Given the description of an element on the screen output the (x, y) to click on. 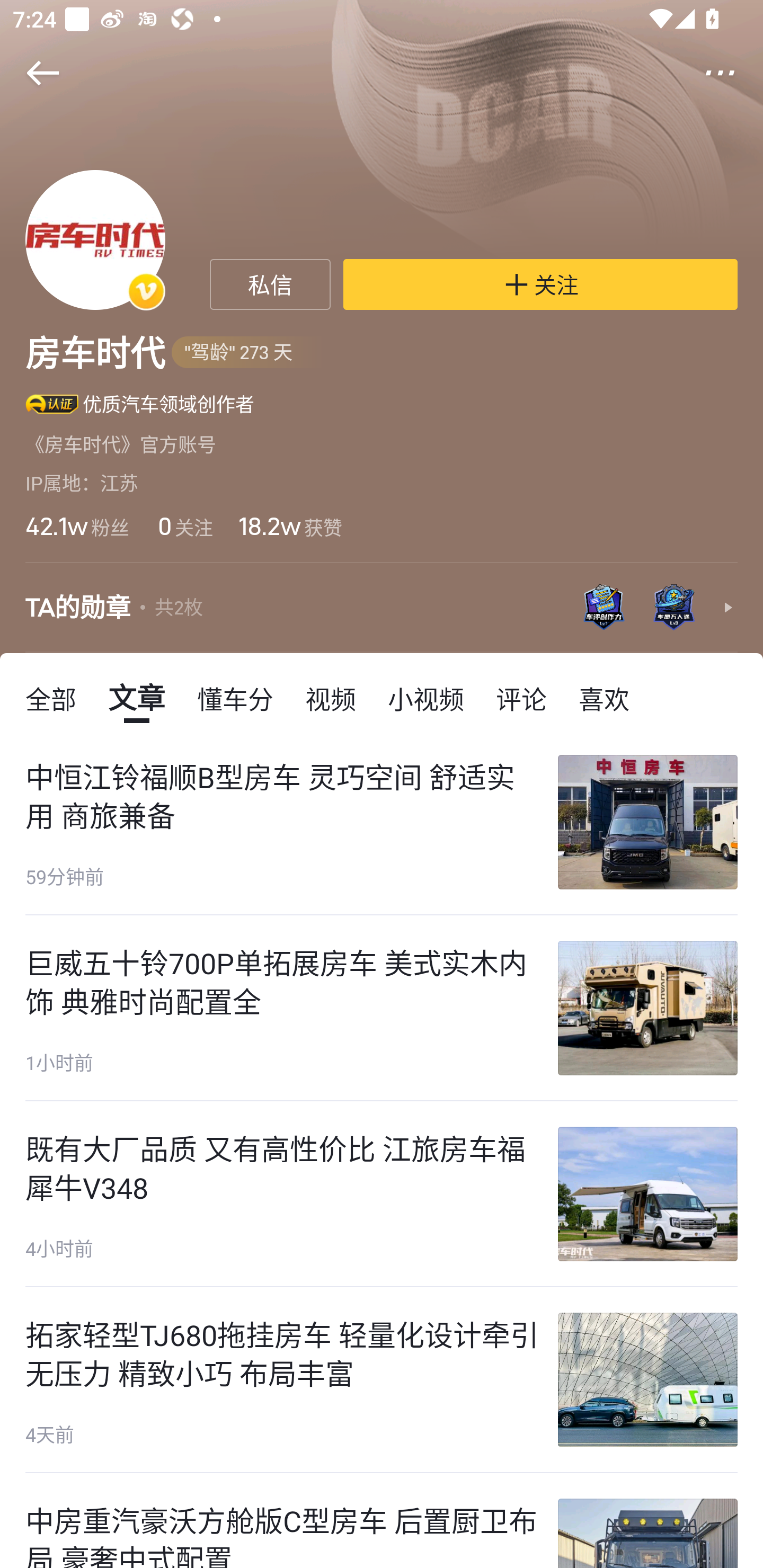
 (30, 72)
 (732, 72)
私信 (269, 284)
 关注 (540, 284)
"驾龄" 273 天 (248, 352)
42.1w 粉丝 (76, 526)
0 关注 (183, 526)
18.2w 获赞 (290, 526)
TA的勋章 共2枚  (381, 607)
全部 (50, 697)
文章 (136, 697)
懂车分 (234, 697)
视频 (330, 697)
小视频 (425, 697)
评论 (521, 697)
喜欢 (603, 697)
中恒江铃福顺B型房车 灵巧空间 舒适实用 商旅兼备 59分钟前 (381, 822)
巨威五十铃700P单拓展房车 美式实木内饰 典雅时尚配置全 1小时前 (381, 1007)
既有大厂品质 又有高性价比 江旅房车福犀牛V348 4小时前 (381, 1193)
拓家轻型TJ680拖挂房车 轻量化设计牵引无压力 精致小巧 布局丰富 4天前 (381, 1380)
中房重汽豪沃方舱版C型房车 后置厨卫布局 豪奢中式配置 (381, 1520)
